Given the description of an element on the screen output the (x, y) to click on. 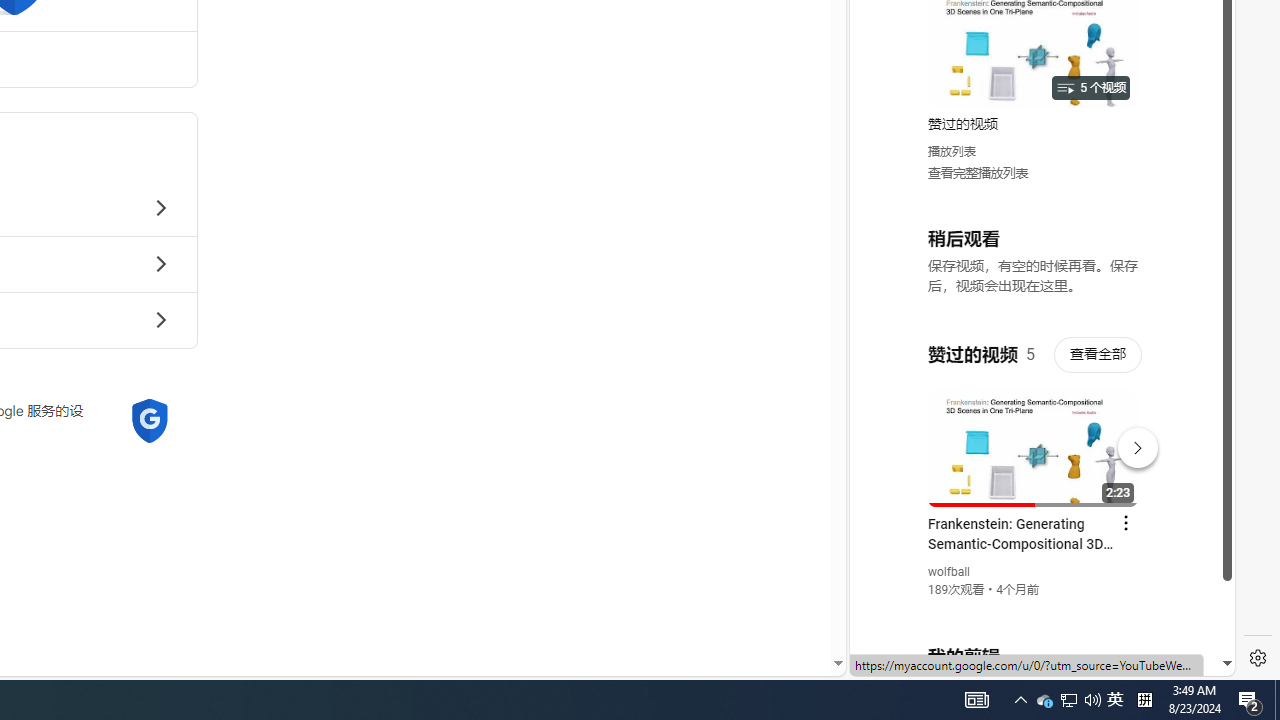
YouTube (1034, 432)
Click to scroll right (1196, 83)
